Given the description of an element on the screen output the (x, y) to click on. 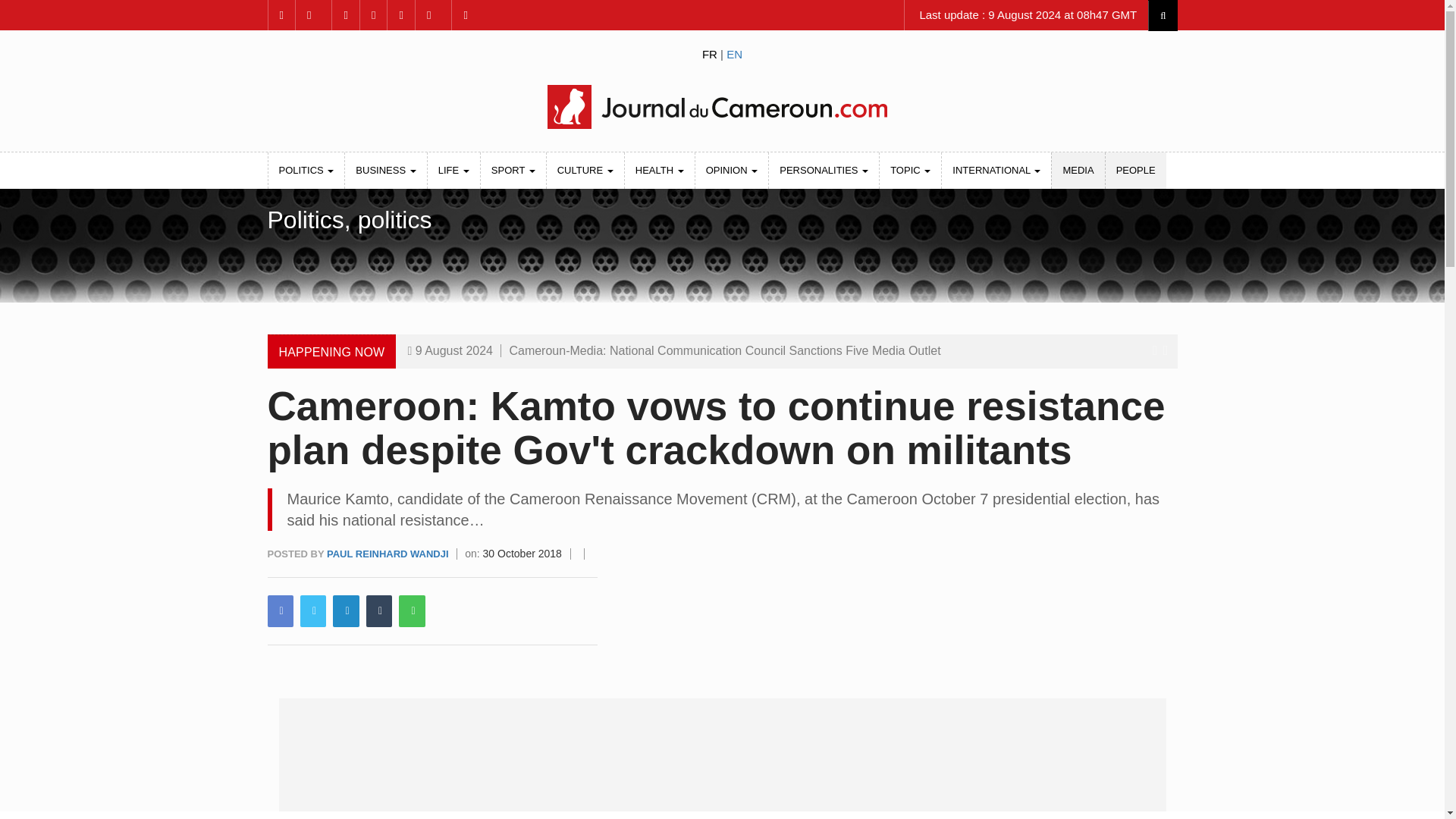
JDC (721, 106)
EN (734, 53)
BUSINESS (385, 170)
FR (709, 53)
Last update : 9 August 2024 at 08h47 GMT (1026, 15)
POLITICS (306, 170)
